Given the description of an element on the screen output the (x, y) to click on. 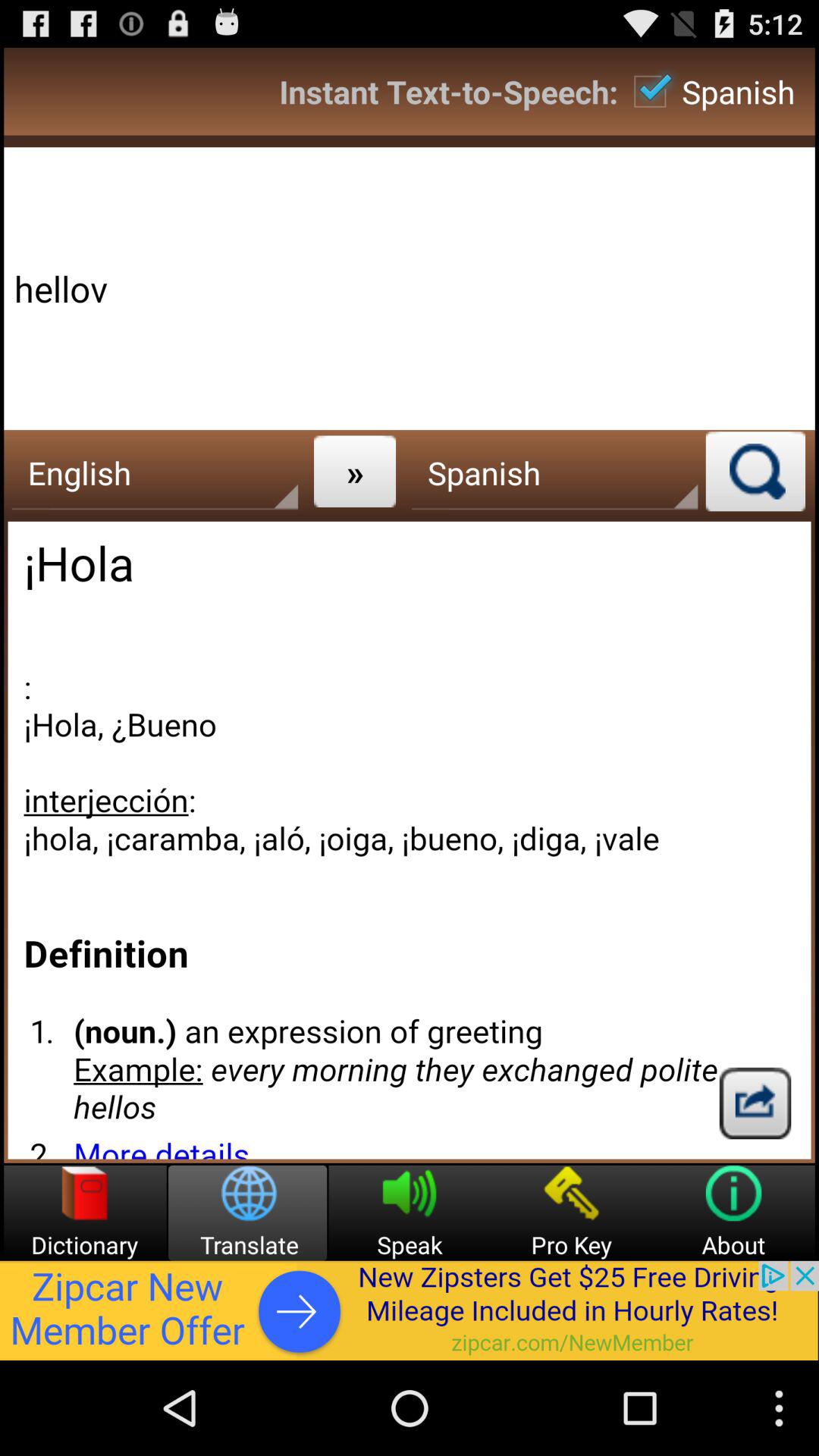
go to next (755, 1103)
